Given the description of an element on the screen output the (x, y) to click on. 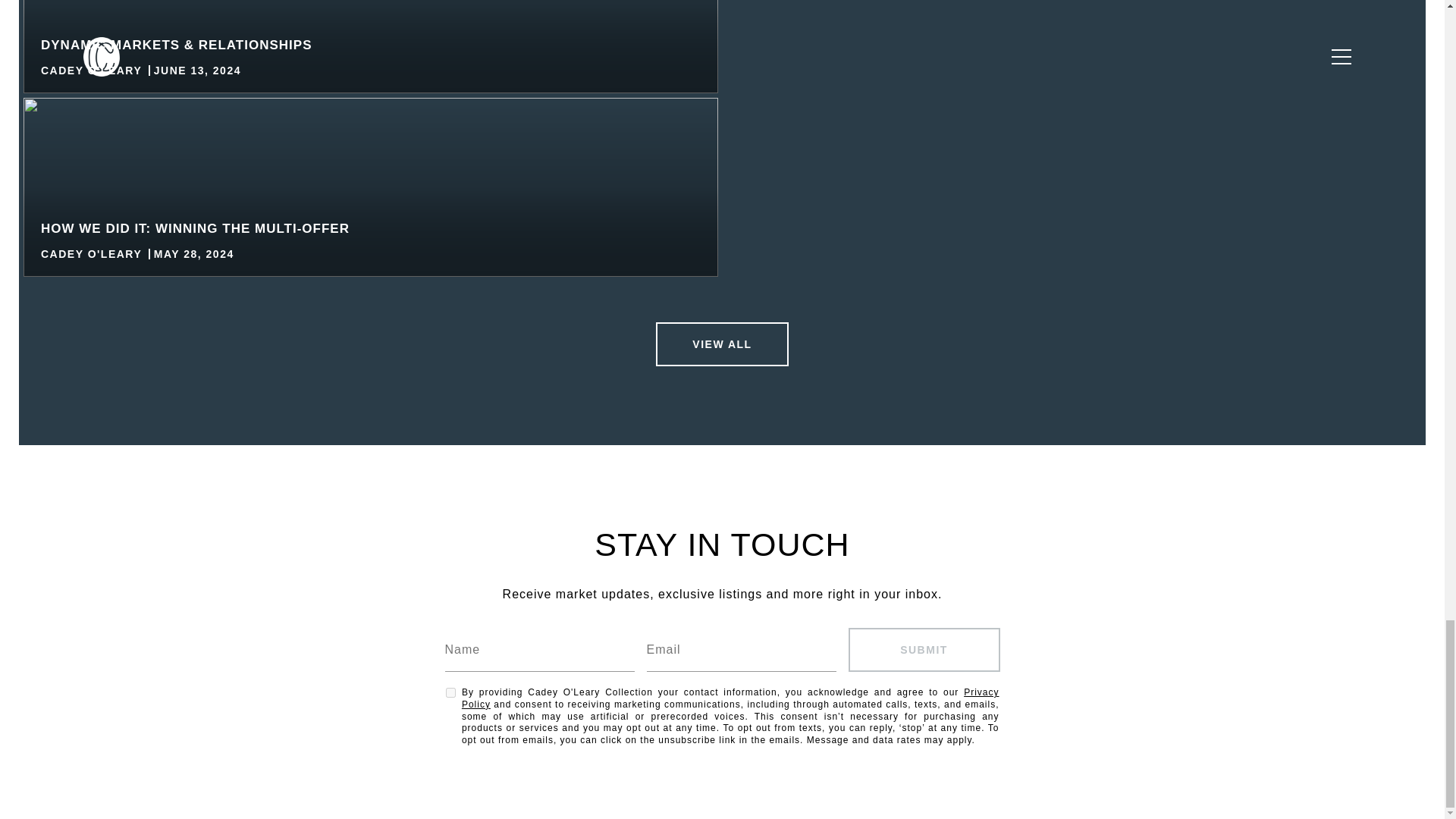
on (450, 692)
VIEW ALL (721, 344)
Privacy Policy (729, 698)
SUBMIT (922, 649)
